Given the description of an element on the screen output the (x, y) to click on. 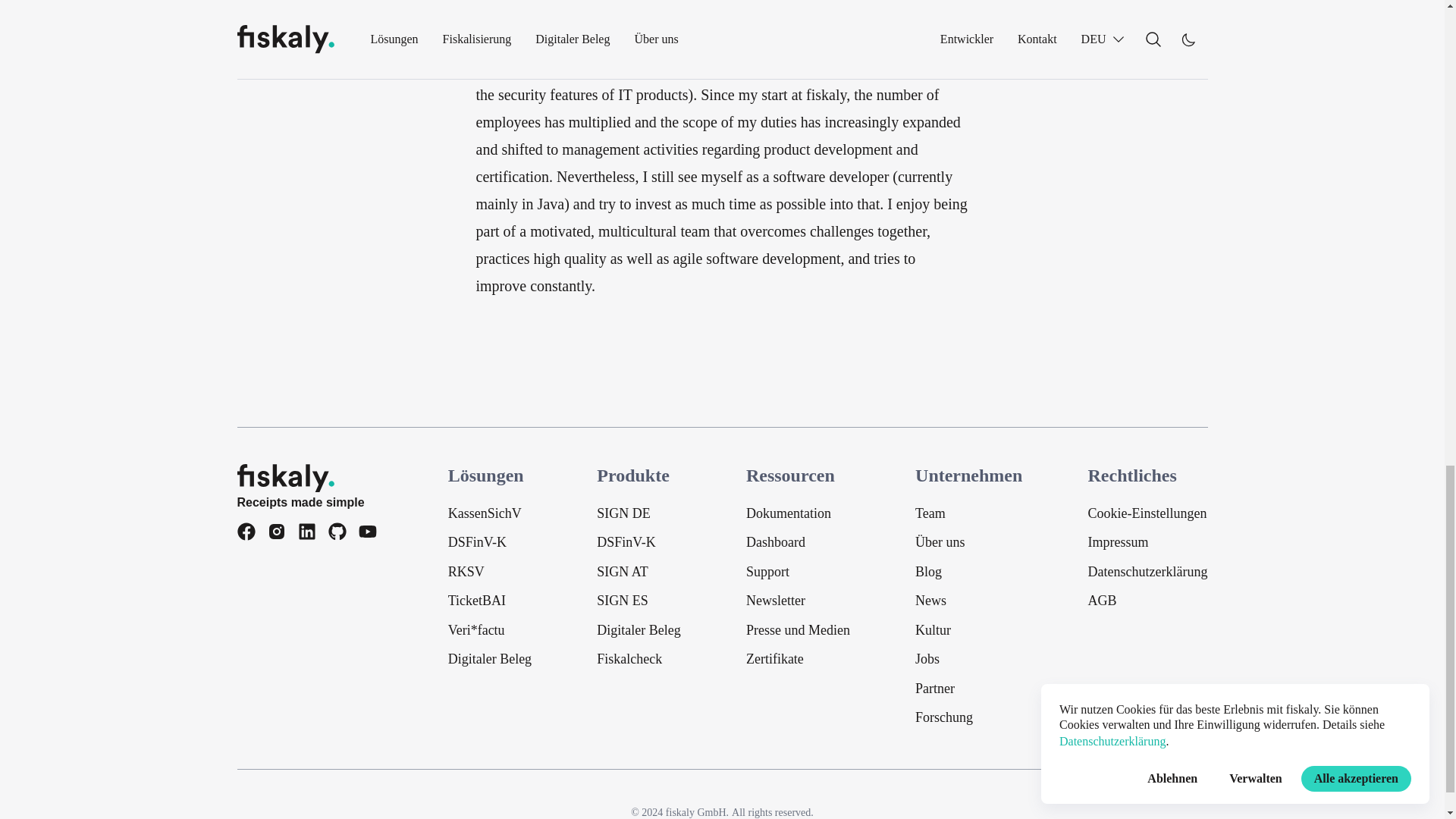
KassenSichV (489, 513)
